Given the description of an element on the screen output the (x, y) to click on. 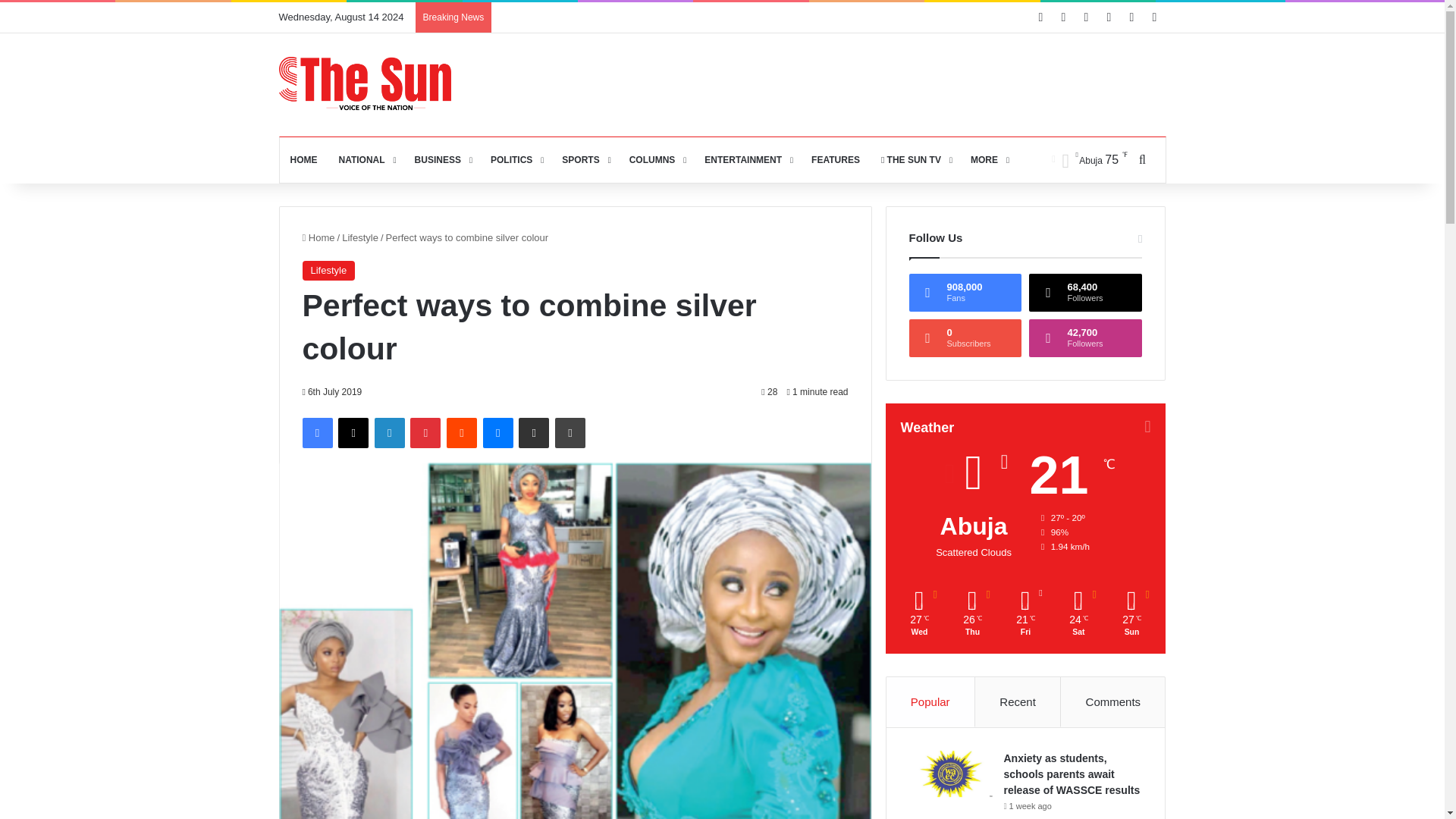
POLITICS (515, 159)
ENTERTAINMENT (747, 159)
FEATURES (835, 159)
Messenger (498, 432)
NATIONAL (365, 159)
Facebook (316, 432)
MORE (987, 159)
COLUMNS (656, 159)
HOME (303, 159)
Scattered Clouds (1088, 158)
